Given the description of an element on the screen output the (x, y) to click on. 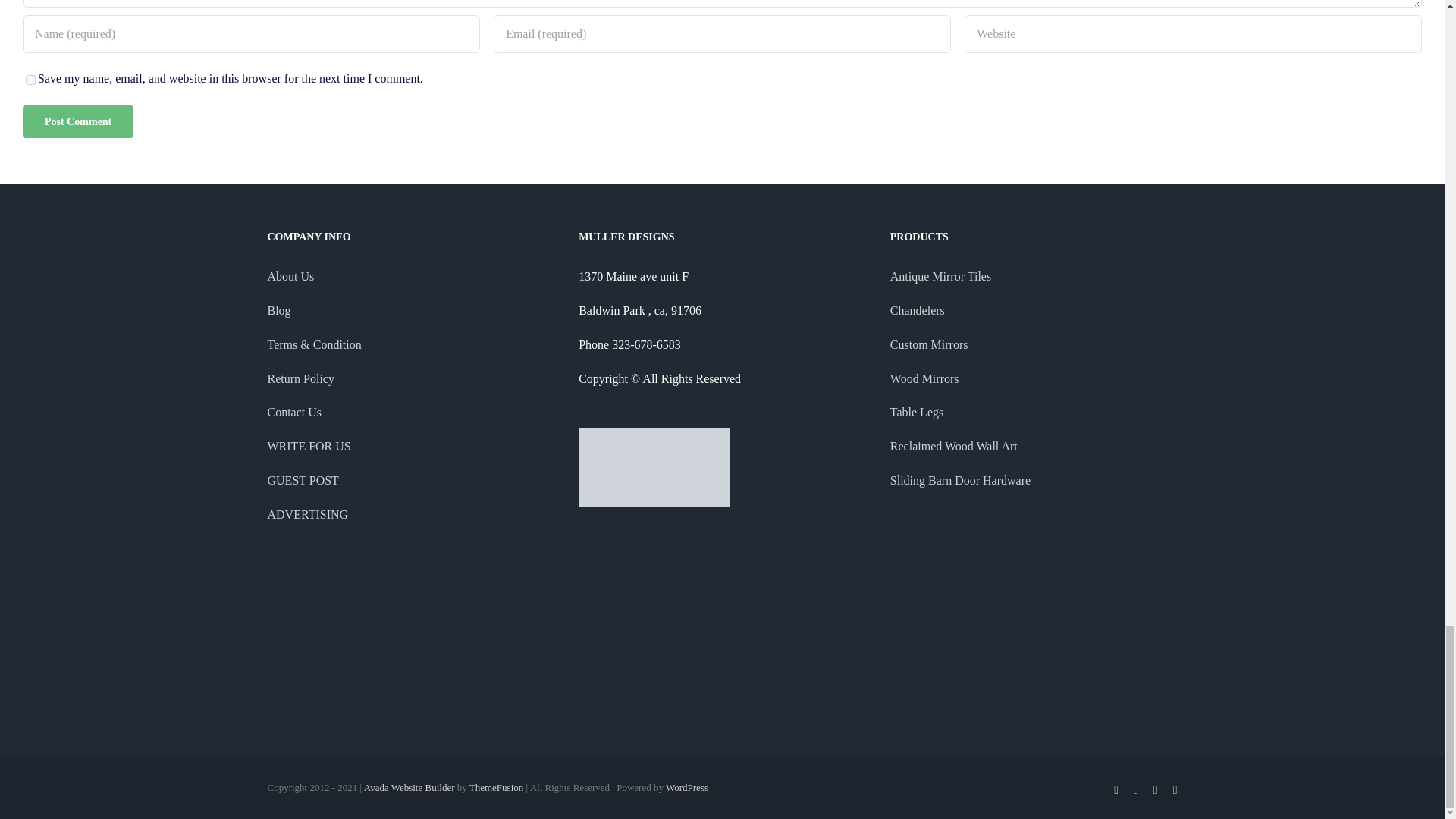
yes (30, 80)
Post Comment (78, 121)
